Given the description of an element on the screen output the (x, y) to click on. 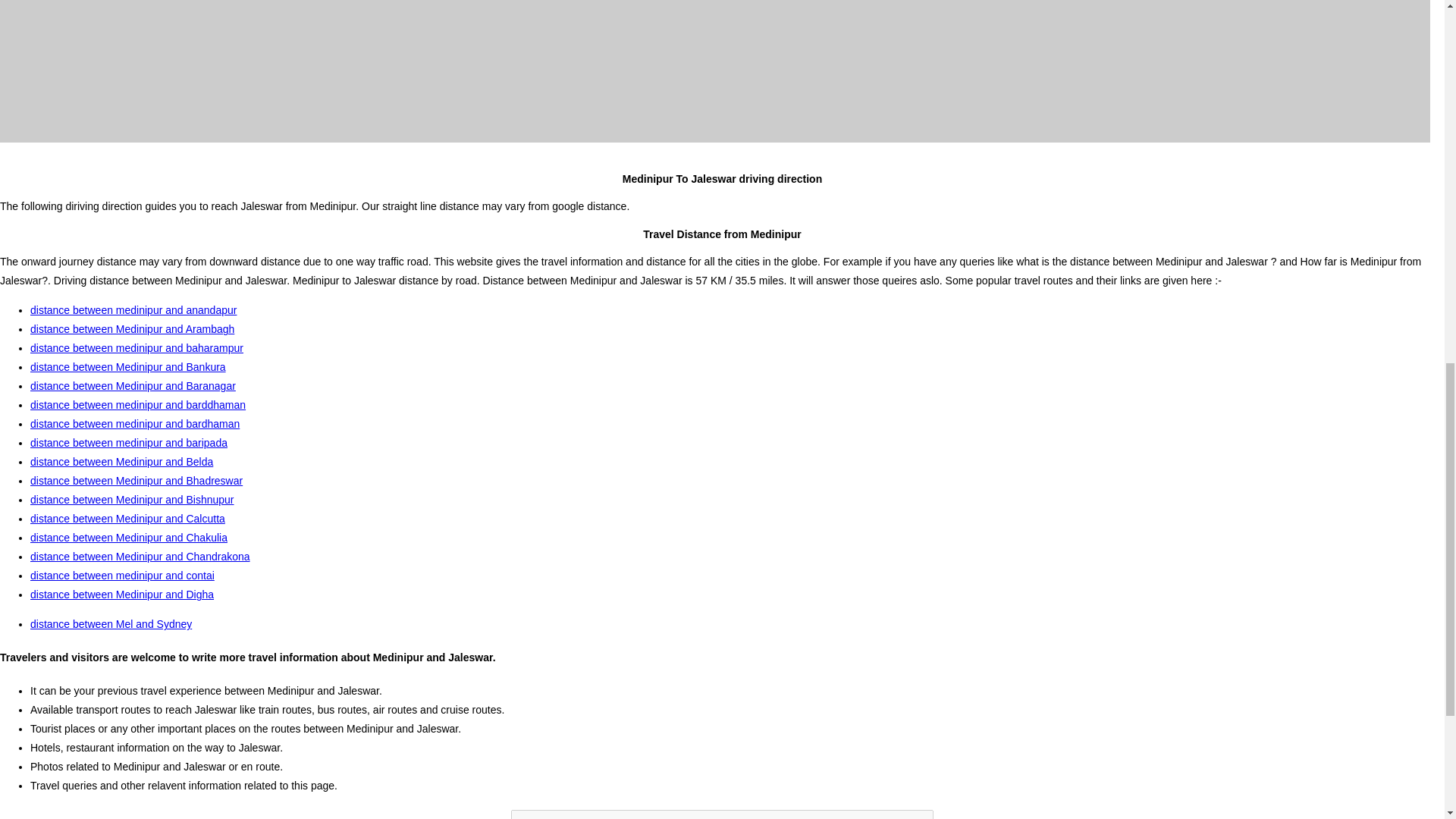
distance between Medinipur and Bhadreswar (136, 480)
distance between Medinipur and Belda (121, 461)
distance between medinipur and anandapur (132, 309)
distance between medinipur and baharampur (136, 347)
distance between medinipur and baripada (128, 442)
distance between Medinipur and Bishnupur (132, 499)
distance between Medinipur and Baranagar (132, 386)
distance between medinipur and bardhaman (135, 423)
distance between Medinipur and Chakulia (128, 537)
distance between medinipur and contai (122, 575)
distance between Medinipur and Arambagh (132, 328)
distance between Medinipur and Bankura (127, 367)
distance between Medinipur and Digha (122, 594)
distance between Mel and Sydney (111, 623)
distance between Medinipur and Calcutta (127, 518)
